Given the description of an element on the screen output the (x, y) to click on. 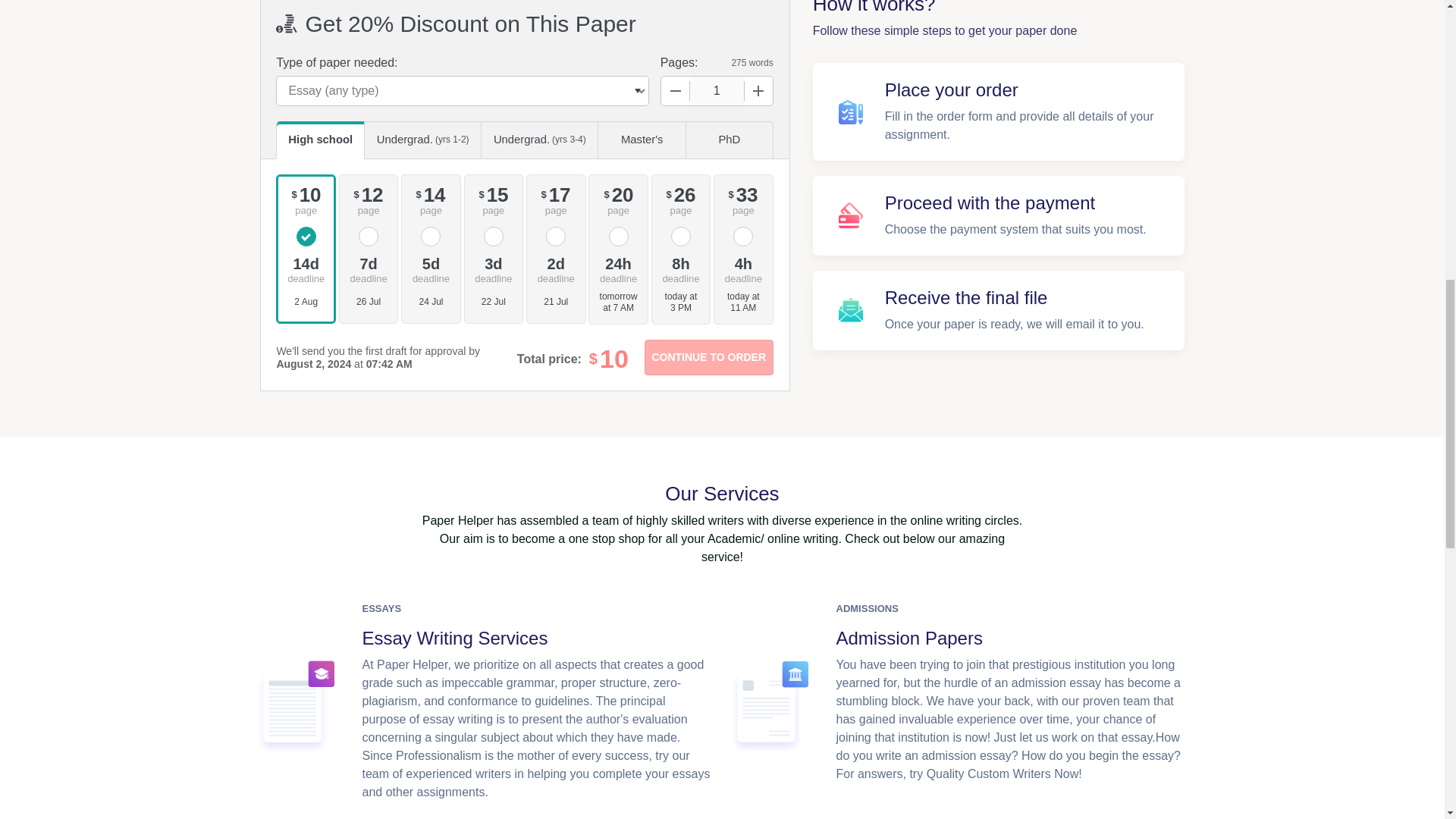
Decrease (675, 90)
1 (717, 90)
Continue to order (709, 357)
Continue to order (709, 357)
Increase (758, 90)
